Given the description of an element on the screen output the (x, y) to click on. 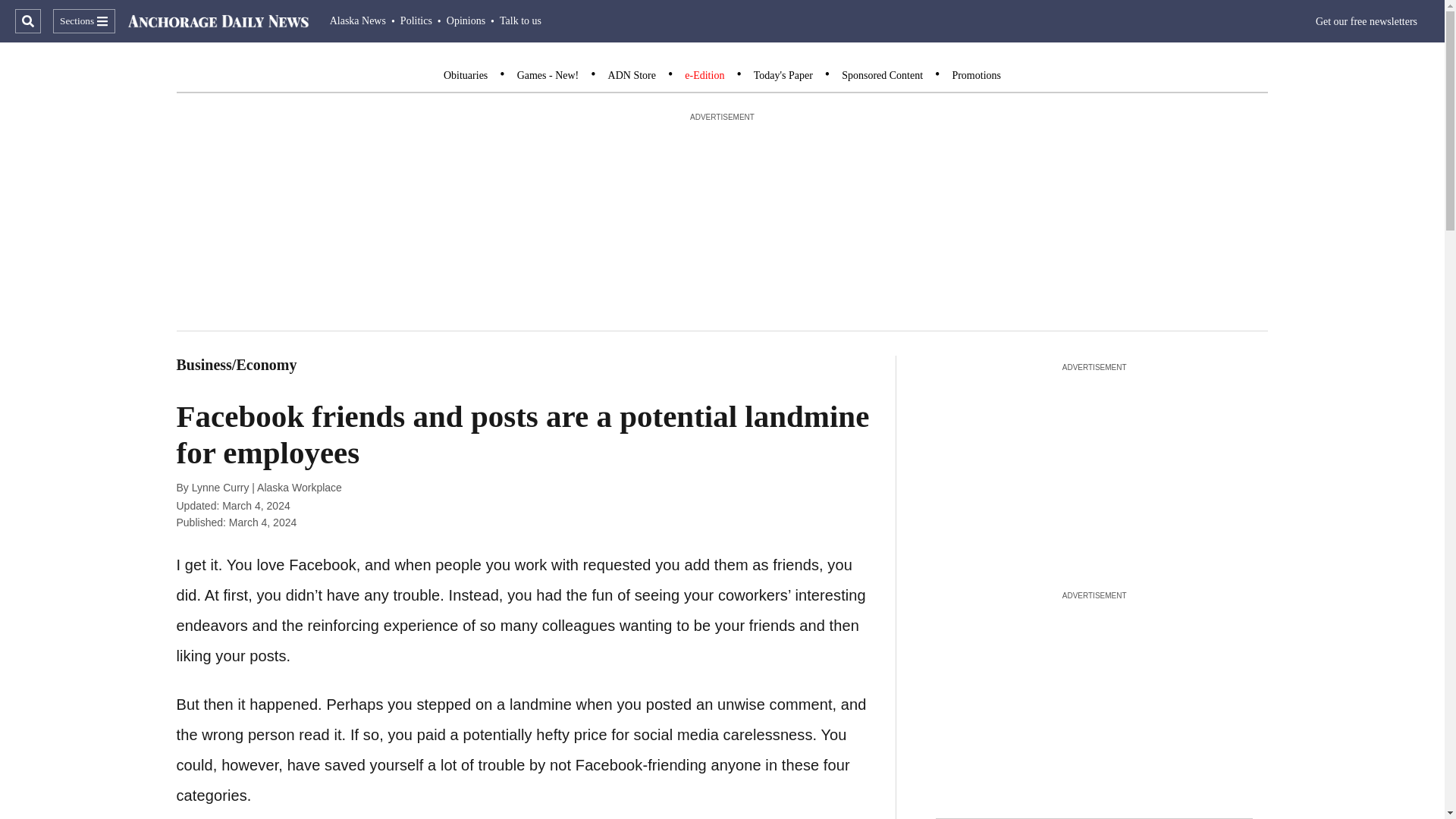
ADN Logo (218, 20)
Alaska News (357, 20)
Sections (83, 21)
Opinions (465, 20)
Get our free newsletters (1366, 21)
Politics (416, 20)
